Given the description of an element on the screen output the (x, y) to click on. 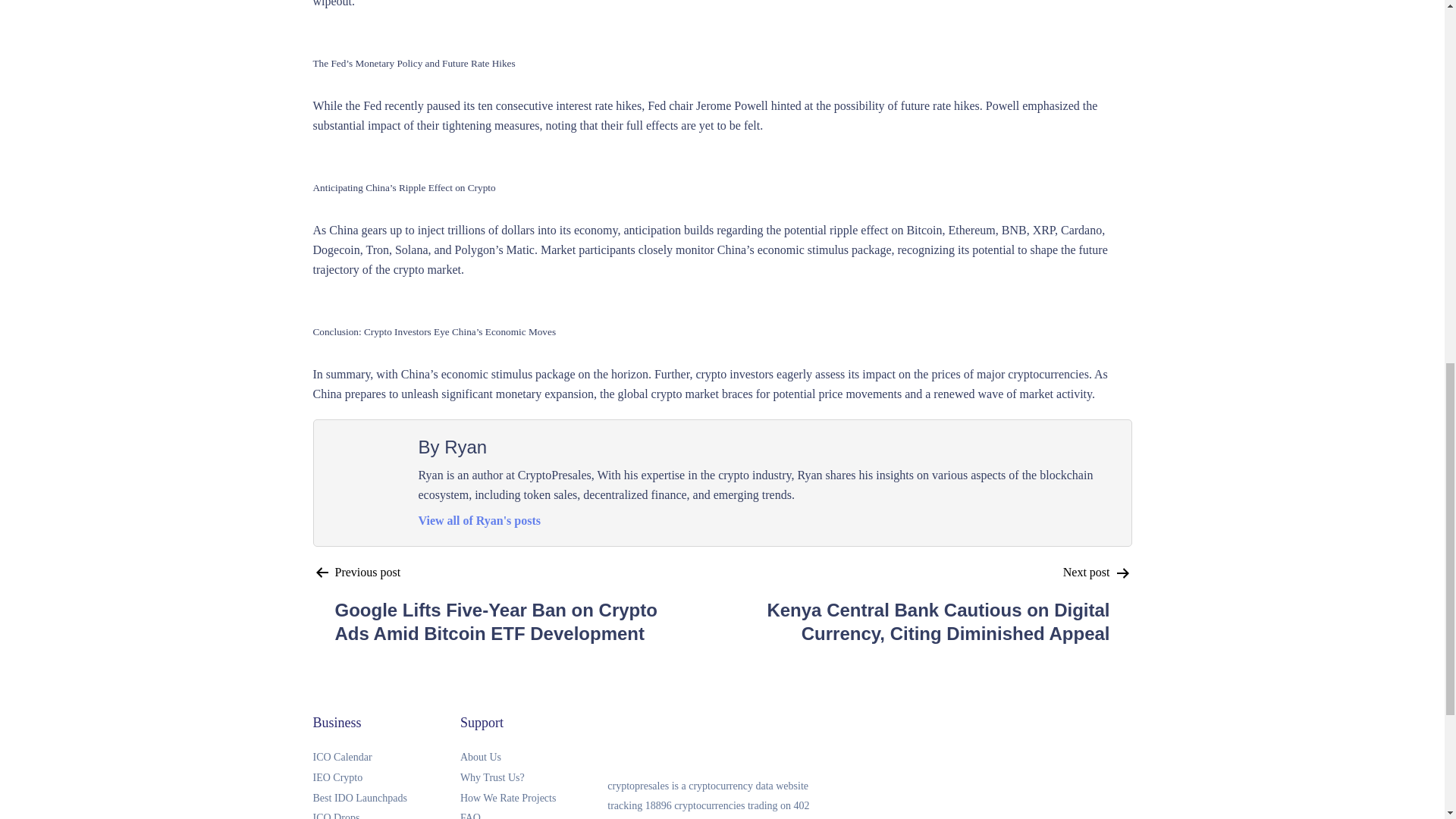
About Us (533, 757)
How We Rate Projects (533, 798)
Why Trust Us? (533, 778)
ICO Calendar (386, 757)
View all of Ryan's posts (480, 520)
Best IDO Launchpads (386, 798)
ICO Drops (386, 813)
IEO Crypto (386, 778)
FAQ (533, 813)
